Given the description of an element on the screen output the (x, y) to click on. 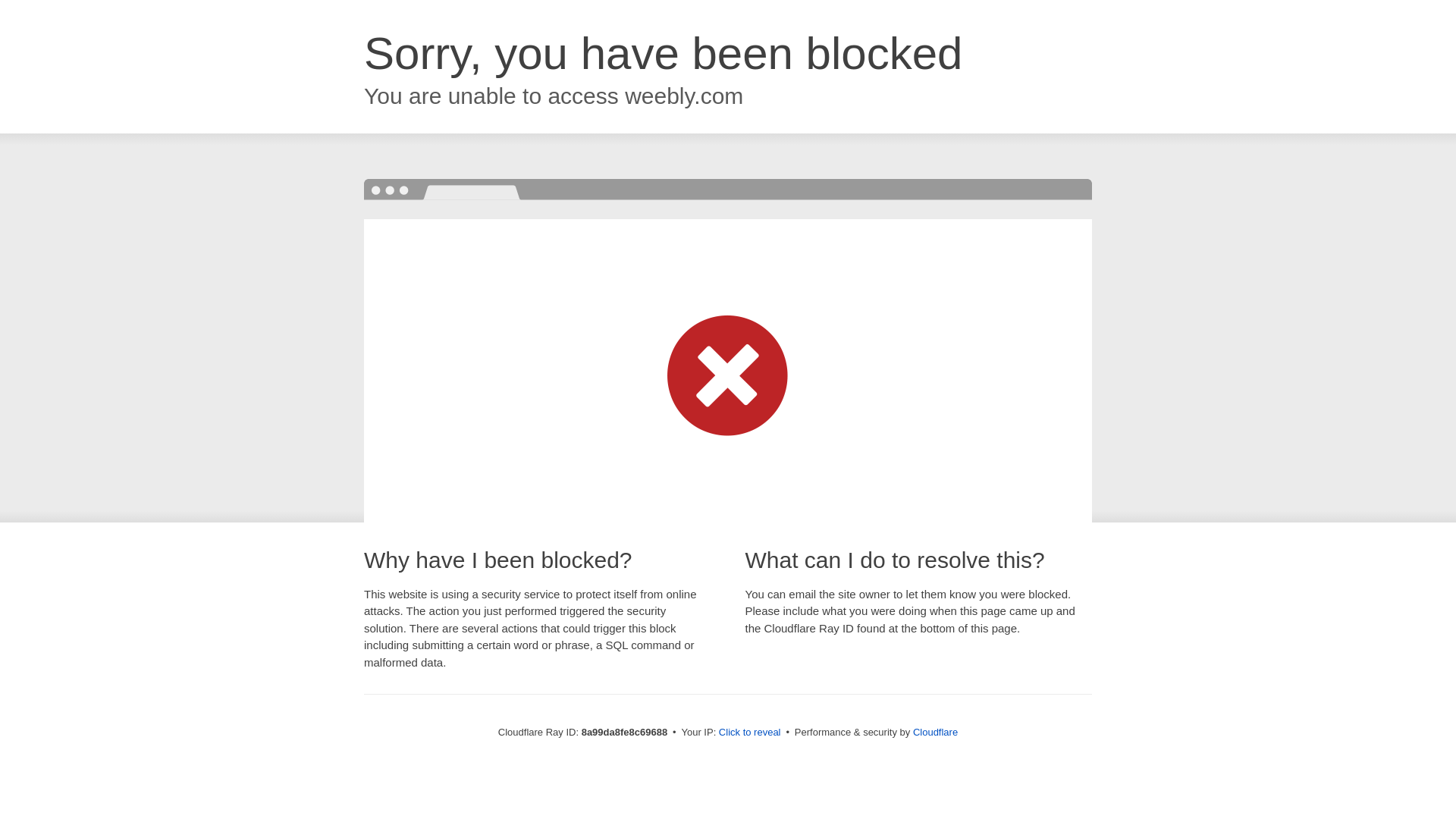
Click to reveal (749, 732)
Cloudflare (935, 731)
